Given the description of an element on the screen output the (x, y) to click on. 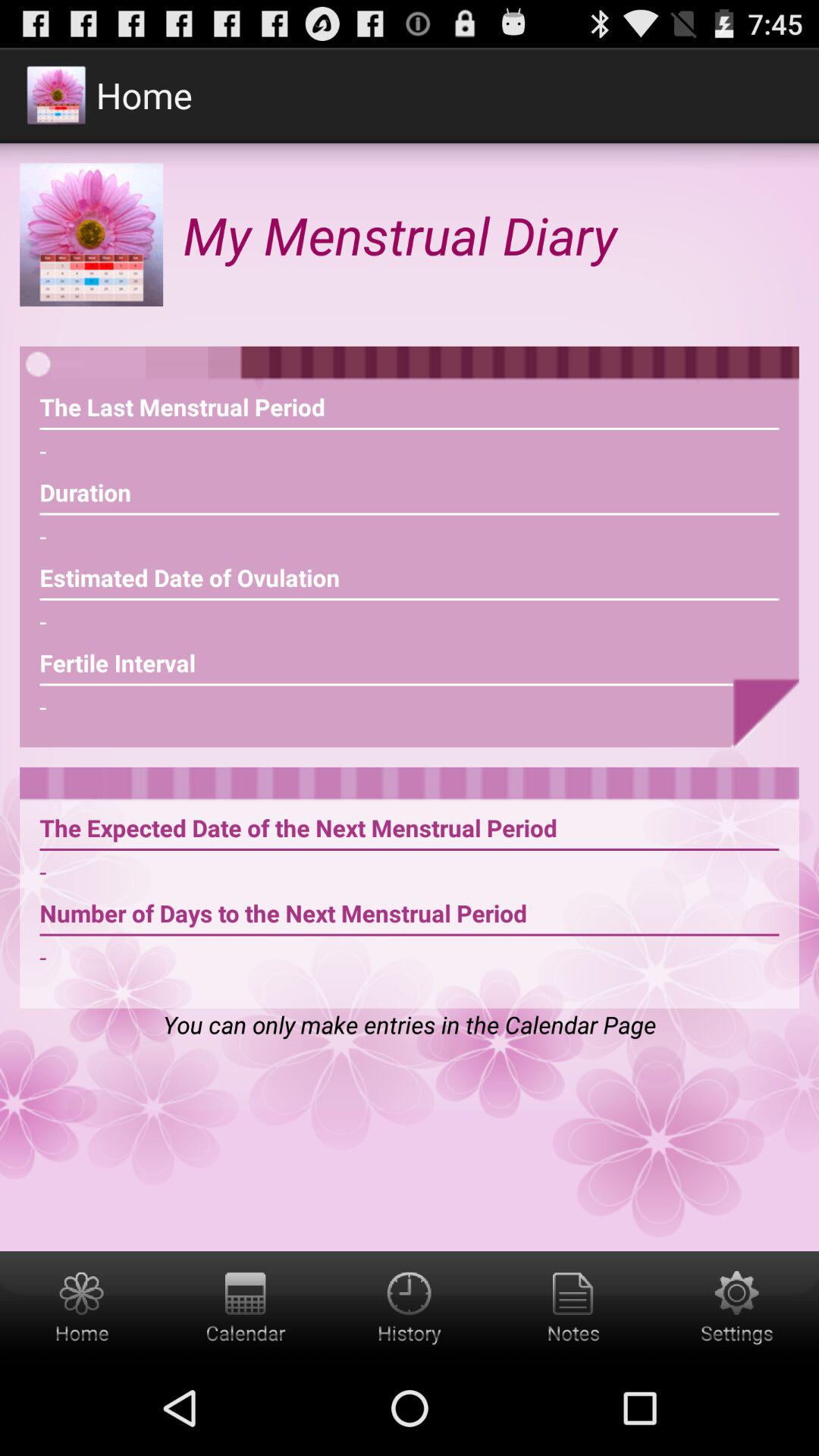
open settings (737, 1305)
